Given the description of an element on the screen output the (x, y) to click on. 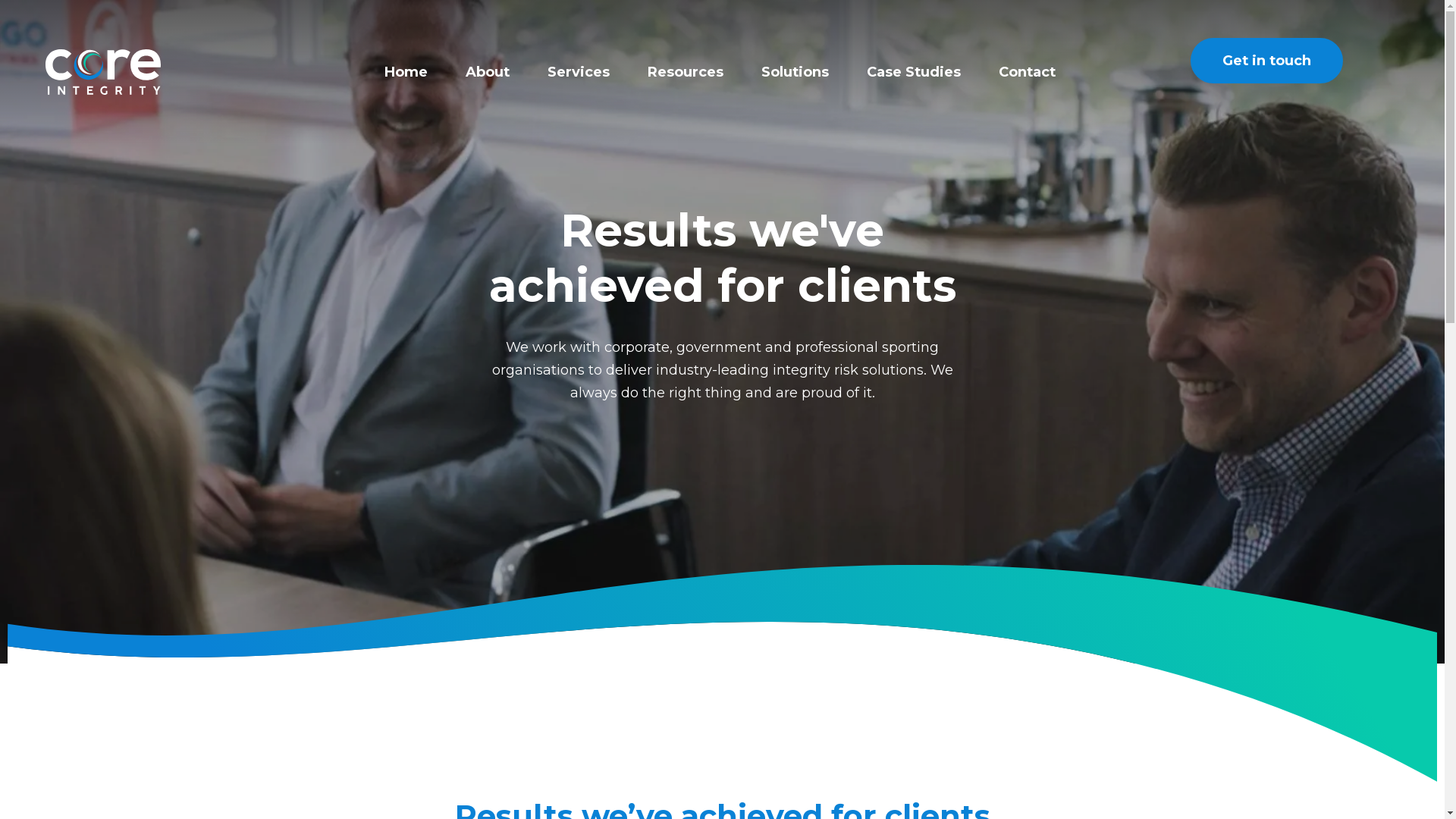
Services Element type: text (578, 71)
Resources Element type: text (685, 71)
About Element type: text (487, 71)
Get in touch Element type: text (1266, 60)
Contact Element type: text (1026, 71)
Home Element type: text (405, 71)
Solutions Element type: text (794, 71)
Case Studies Element type: text (913, 71)
